Given the description of an element on the screen output the (x, y) to click on. 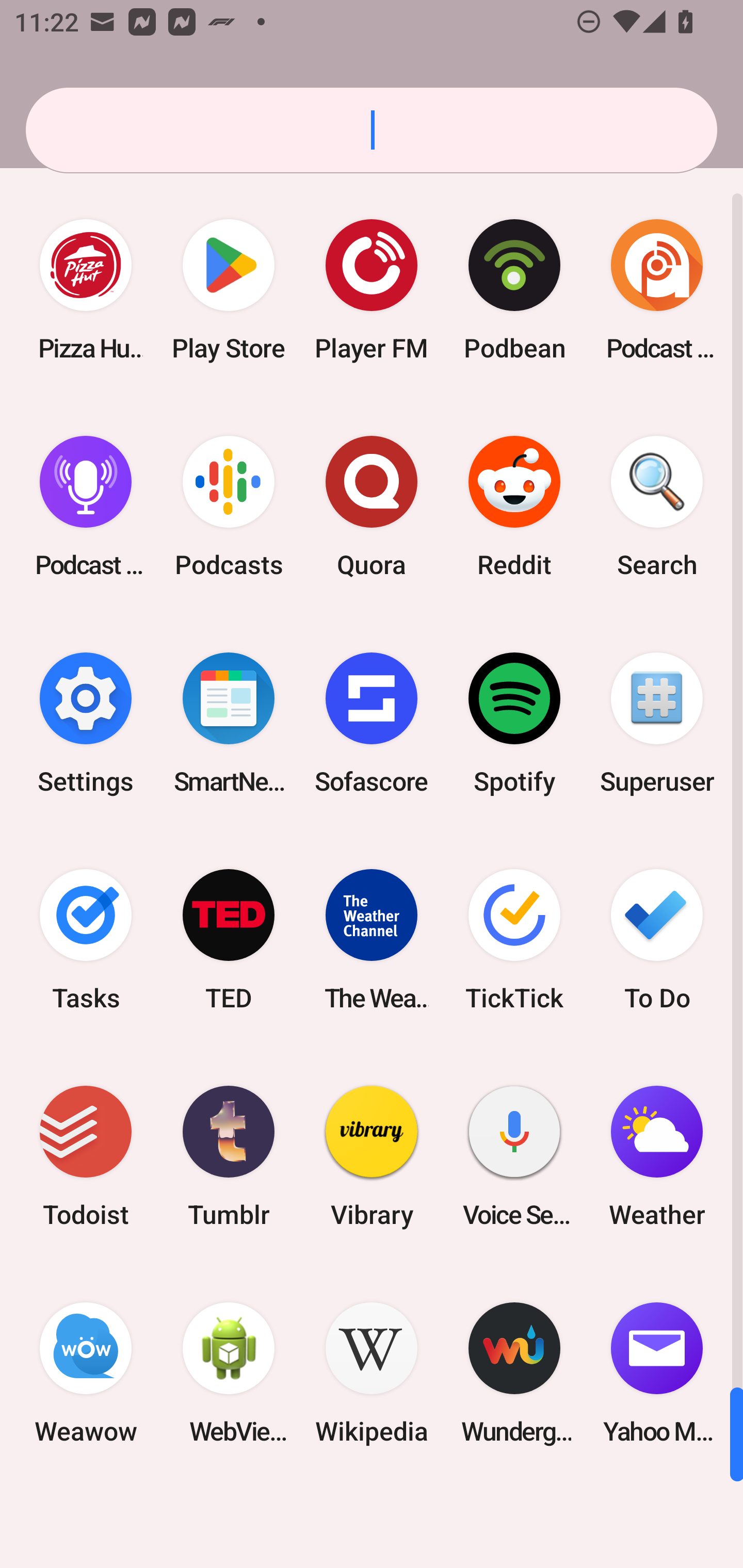
  Search apps (371, 130)
Pizza Hut HK & Macau (85, 289)
Play Store (228, 289)
Player FM (371, 289)
Podbean (514, 289)
Podcast Addict (656, 289)
Podcast Player (85, 506)
Podcasts (228, 506)
Quora (371, 506)
Reddit (514, 506)
Search (656, 506)
Settings (85, 722)
SmartNews (228, 722)
Sofascore (371, 722)
Spotify (514, 722)
Superuser (656, 722)
Tasks (85, 939)
TED (228, 939)
The Weather Channel (371, 939)
TickTick (514, 939)
To Do (656, 939)
Todoist (85, 1156)
Tumblr (228, 1156)
Vibrary (371, 1156)
Voice Search (514, 1156)
Weather (656, 1156)
Weawow (85, 1373)
WebView Browser Tester (228, 1373)
Wikipedia (371, 1373)
Wunderground (514, 1373)
Yahoo Mail (656, 1373)
